Given the description of an element on the screen output the (x, y) to click on. 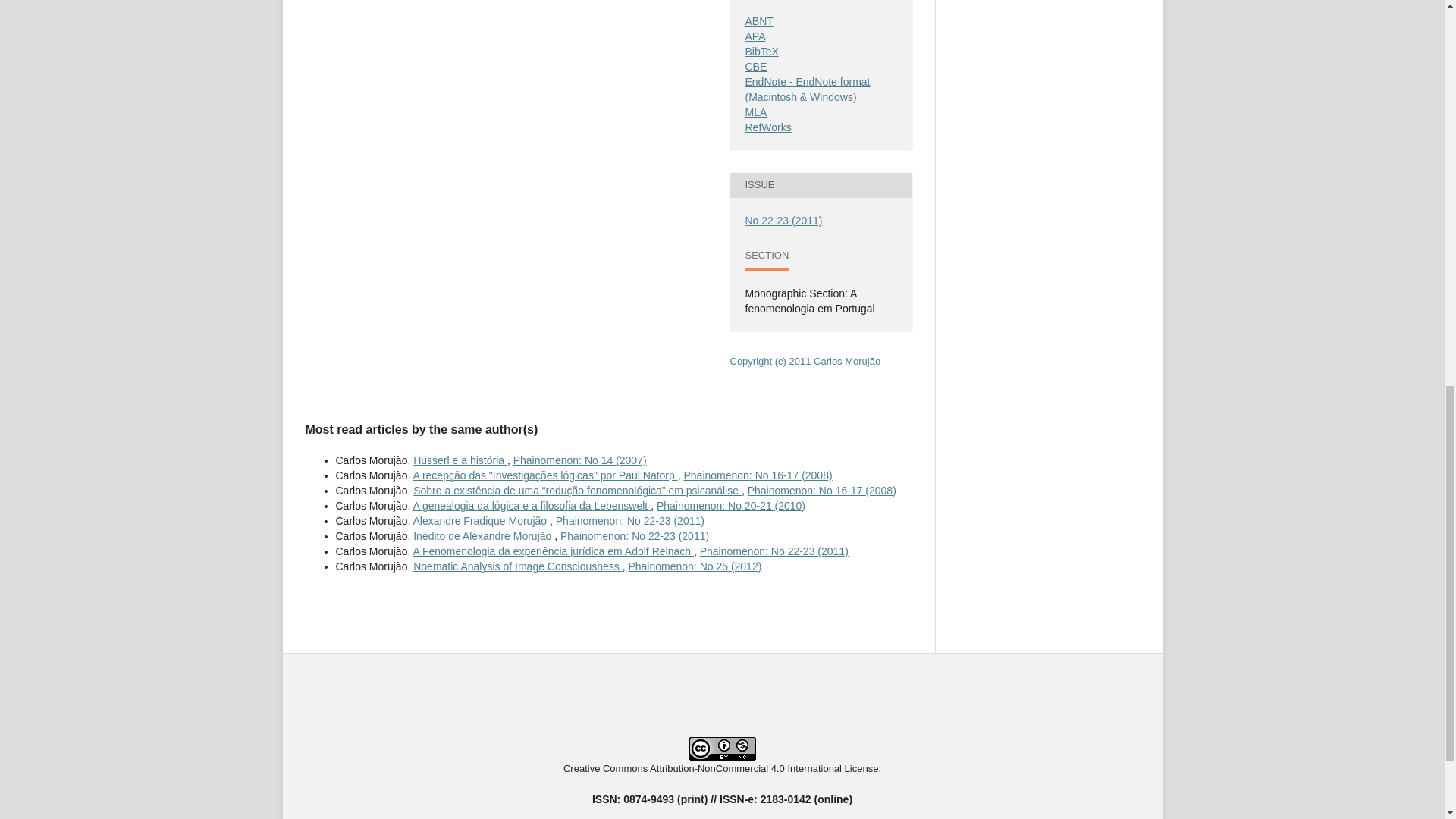
ABNT (758, 21)
APA (754, 36)
RefWorks (767, 127)
MLA (755, 111)
CBE (755, 66)
BibTeX (760, 51)
